Given the description of an element on the screen output the (x, y) to click on. 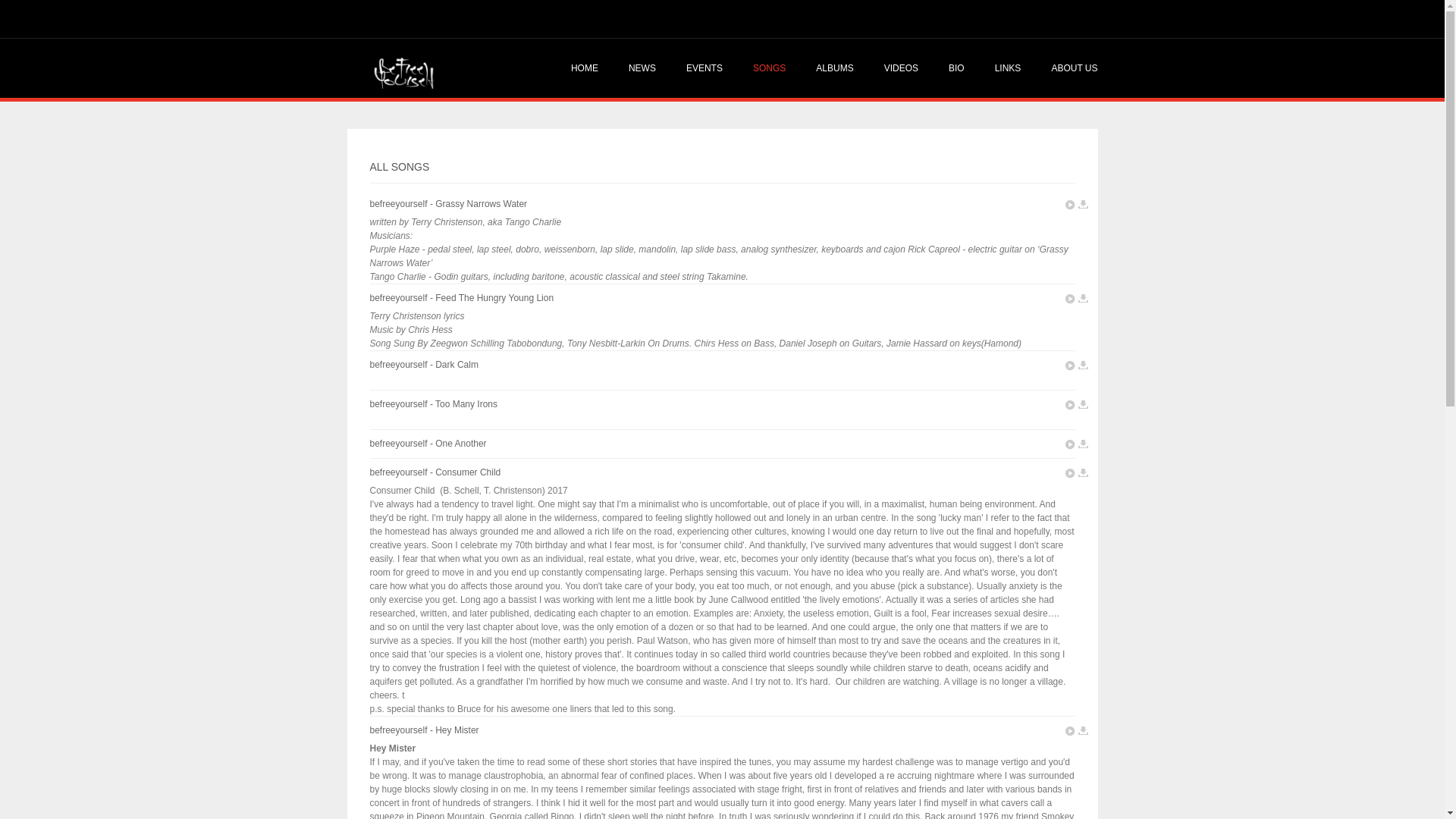
ABOUT US (1066, 67)
EVENTS (704, 67)
NEWS (641, 67)
DownLoad (1082, 298)
BIO (956, 67)
befreeyourself - Consumer Child (434, 471)
DownLoad (1082, 473)
play (1069, 731)
VIDEOS (901, 67)
SONGS (769, 67)
